Given the description of an element on the screen output the (x, y) to click on. 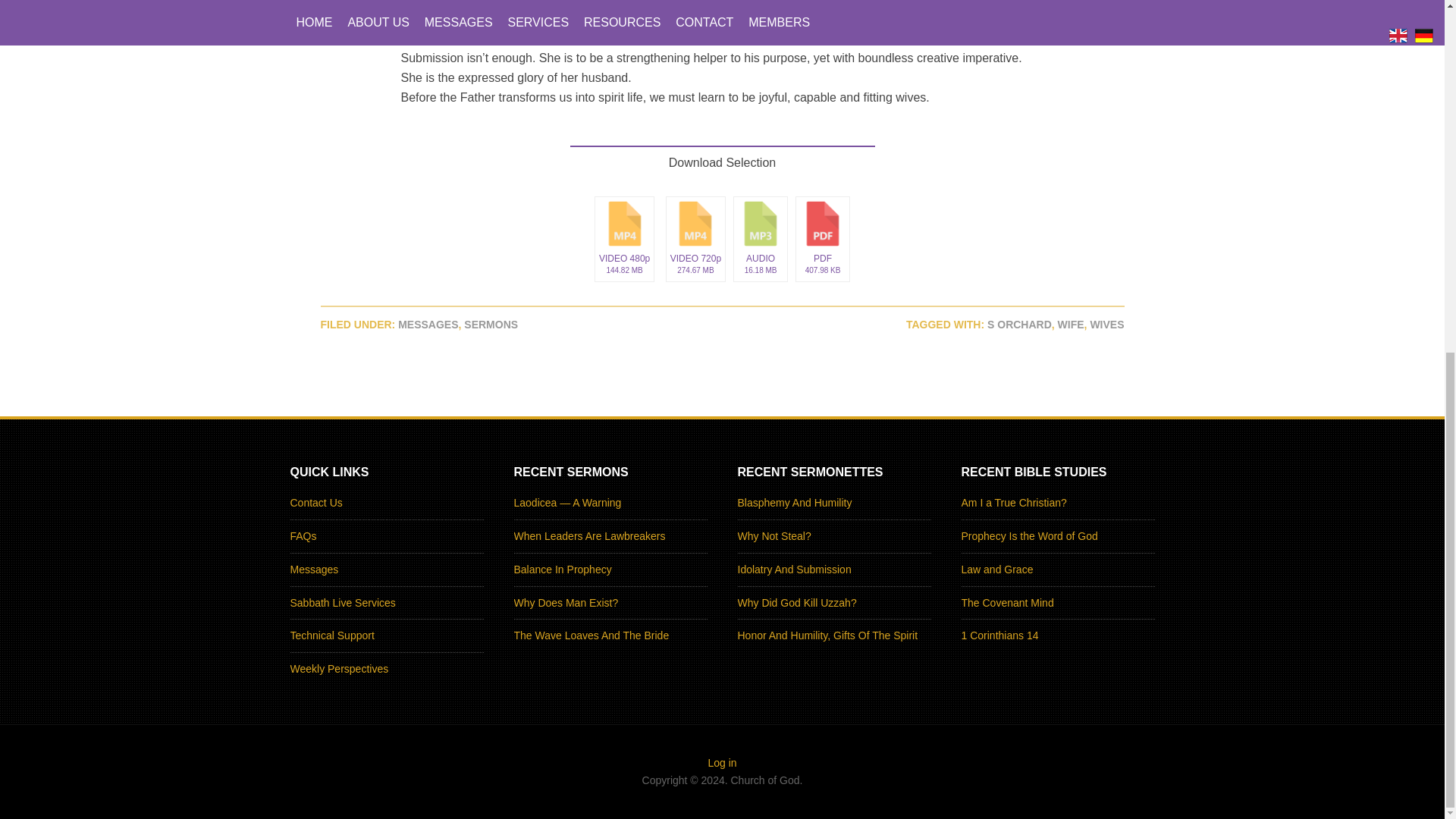
Permanent link to Honor And Humility, Gifts Of The Spirit (826, 635)
Permanent link to Balance In Prophecy (562, 569)
Permanent link to Blasphemy And Humility (793, 502)
Permanent link to Why Does Man Exist? (565, 603)
Permanent link to Idolatry And Submission (793, 569)
Permanent link to Why Not Steal? (773, 535)
Permanent link to When Leaders Are Lawbreakers (589, 535)
Permanent link to Why Did God Kill Uzzah? (796, 603)
Permanent link to The Wave Loaves And The Bride (591, 635)
